Given the description of an element on the screen output the (x, y) to click on. 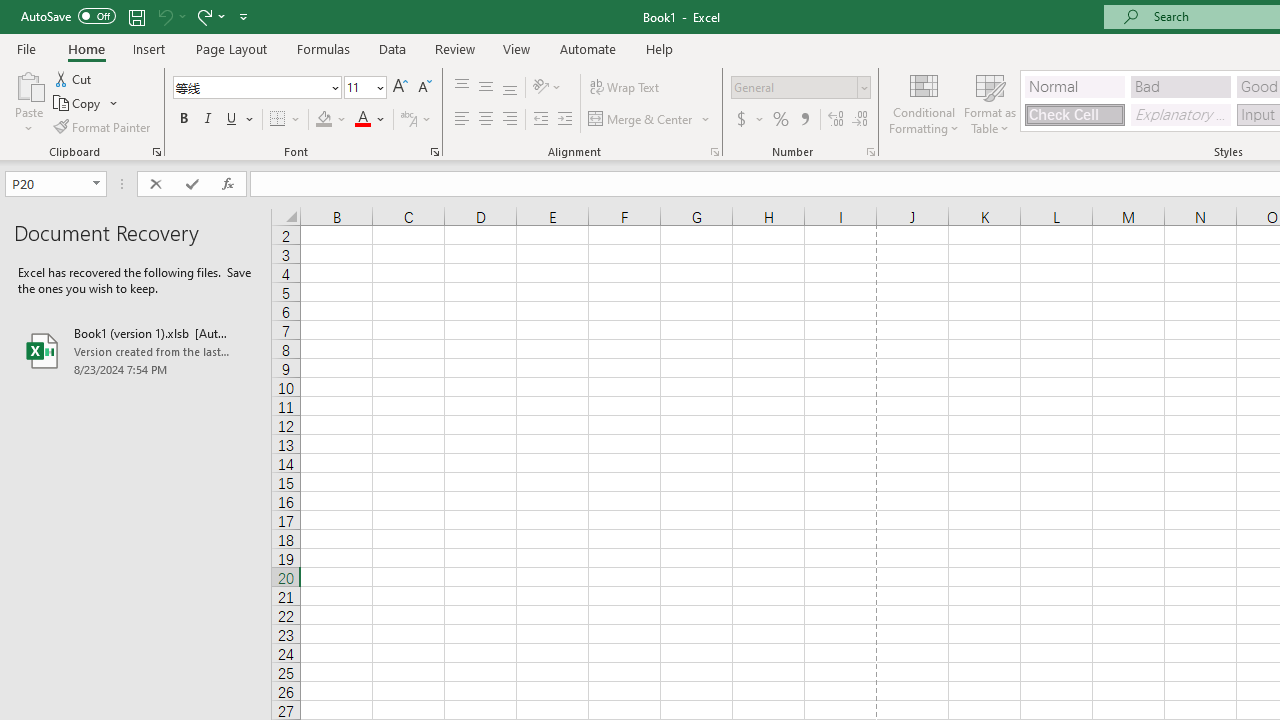
Orientation (547, 87)
Align Right (509, 119)
Wrap Text (624, 87)
Number Format (794, 87)
Conditional Formatting (924, 102)
Font (250, 87)
